Given the description of an element on the screen output the (x, y) to click on. 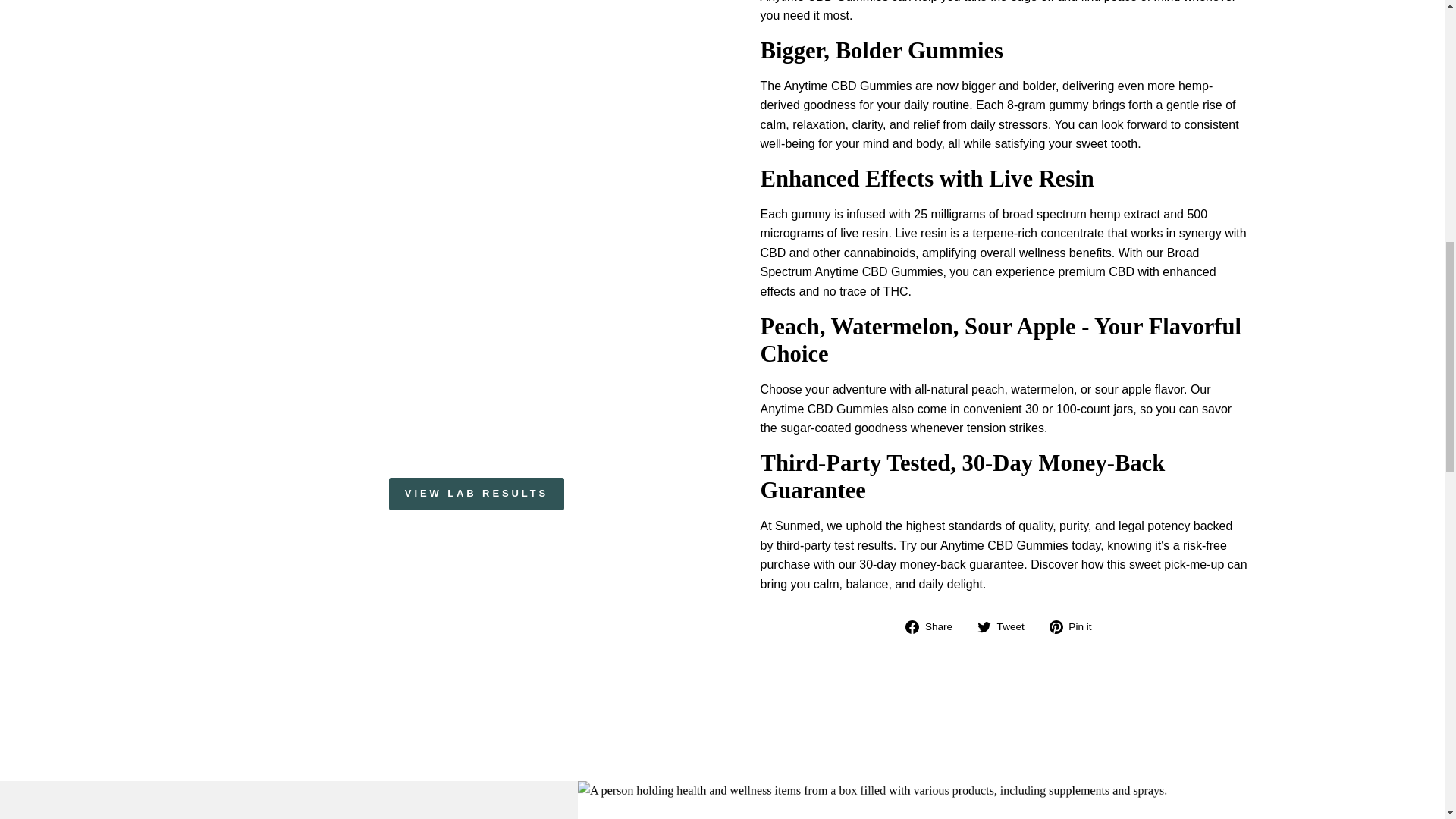
Pin on Pinterest (1076, 627)
Share on Facebook (934, 627)
Tweet on Twitter (1005, 627)
